Given the description of an element on the screen output the (x, y) to click on. 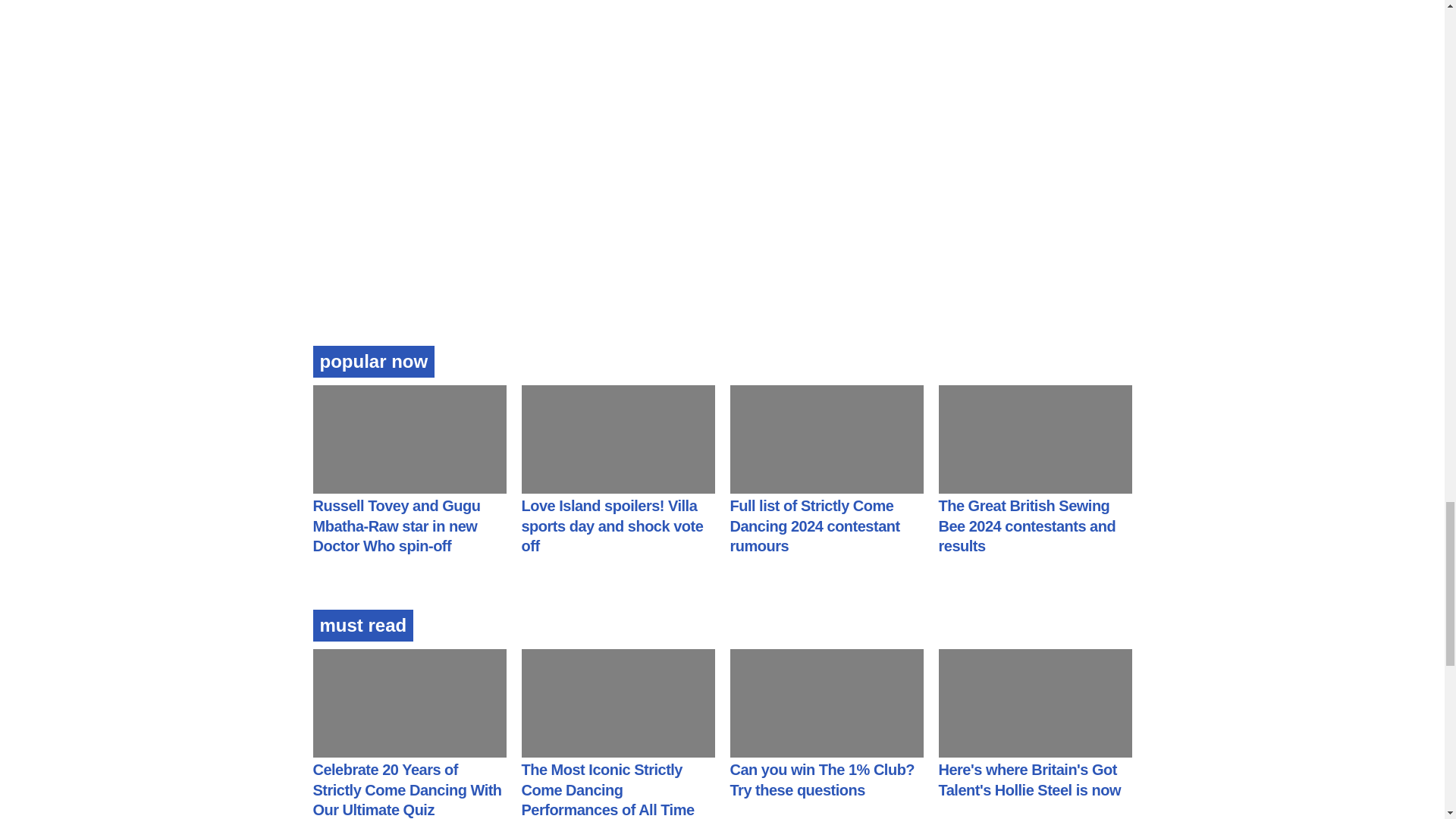
Full list of Strictly Come Dancing 2024 contestant rumours (814, 525)
The Great British Sewing Bee 2024 contestants and results (1027, 525)
Love Island spoilers! Villa sports day and shock vote off (612, 525)
